Given the description of an element on the screen output the (x, y) to click on. 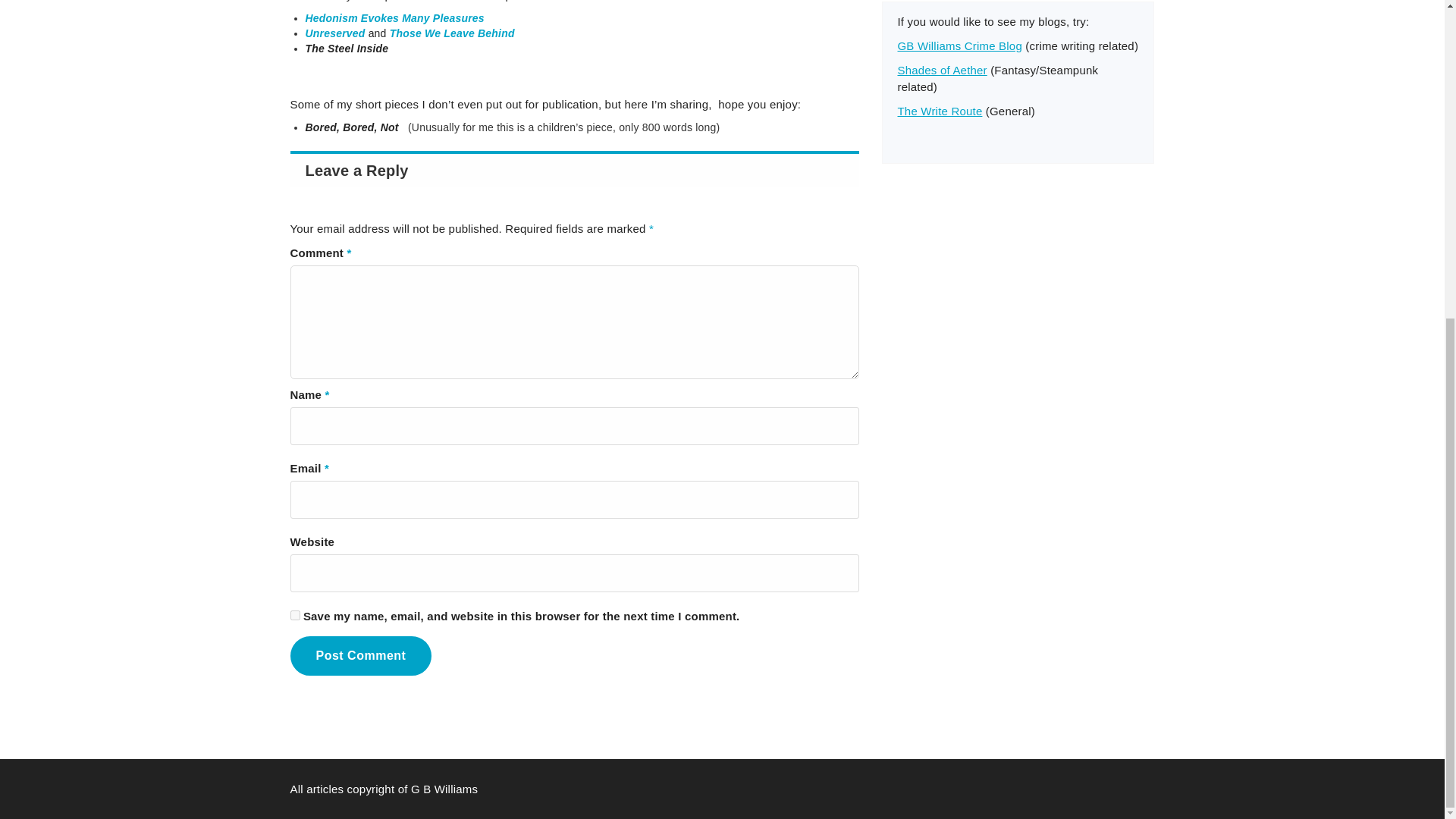
yes (294, 614)
Post Comment (359, 655)
